Given the description of an element on the screen output the (x, y) to click on. 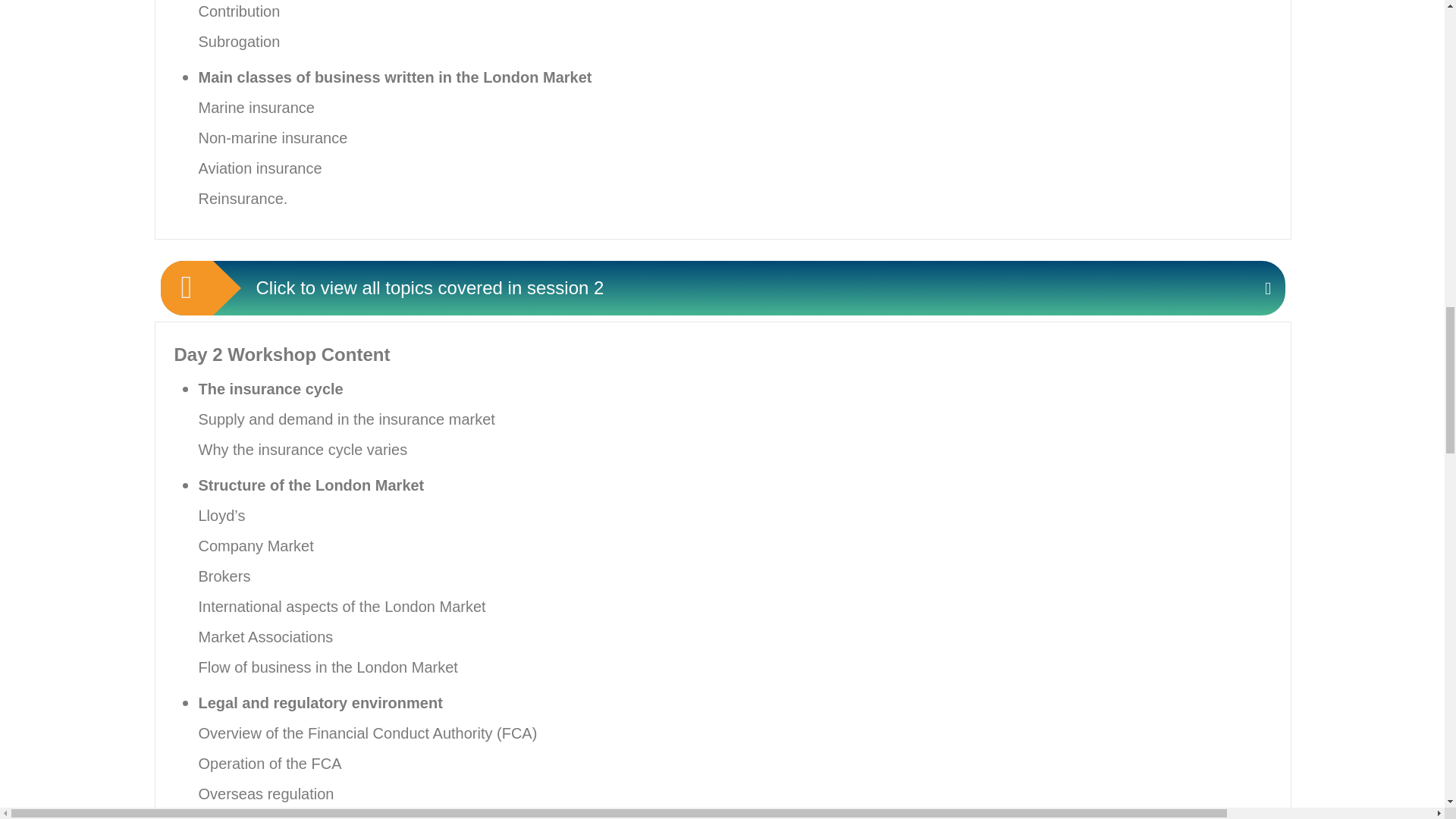
Click to view all topics covered in session 2 (722, 287)
